Given the description of an element on the screen output the (x, y) to click on. 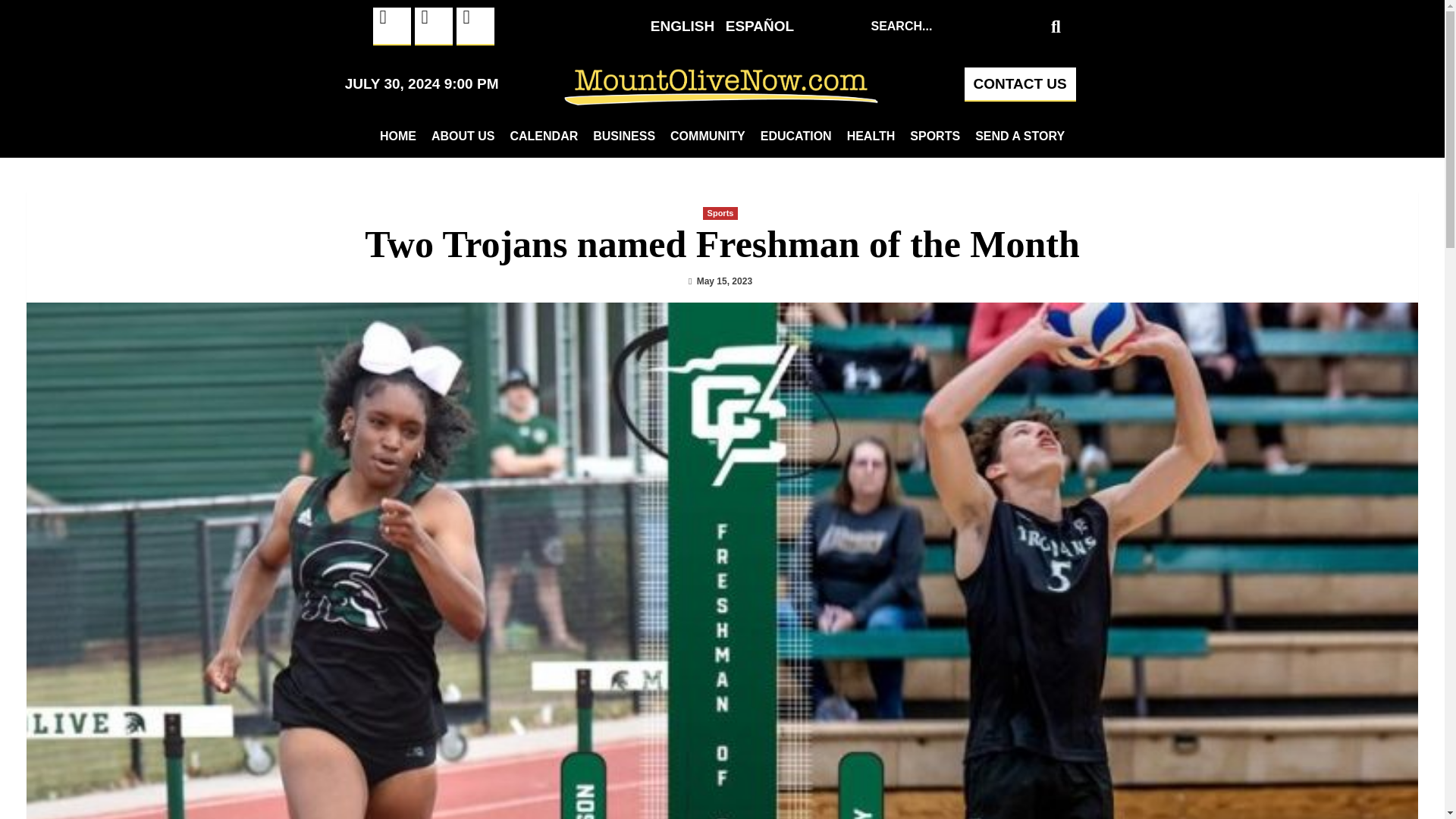
May 15, 2023 (724, 281)
ABOUT US (462, 135)
ENGLISH (681, 25)
English (681, 25)
HOME (397, 135)
CALENDAR (543, 135)
Search (954, 26)
HEALTH (871, 135)
BUSINESS (623, 135)
COMMUNITY (707, 135)
CONTACT US (1019, 84)
Sports (720, 213)
SEND A STORY (1019, 135)
EDUCATION (796, 135)
SPORTS (935, 135)
